Given the description of an element on the screen output the (x, y) to click on. 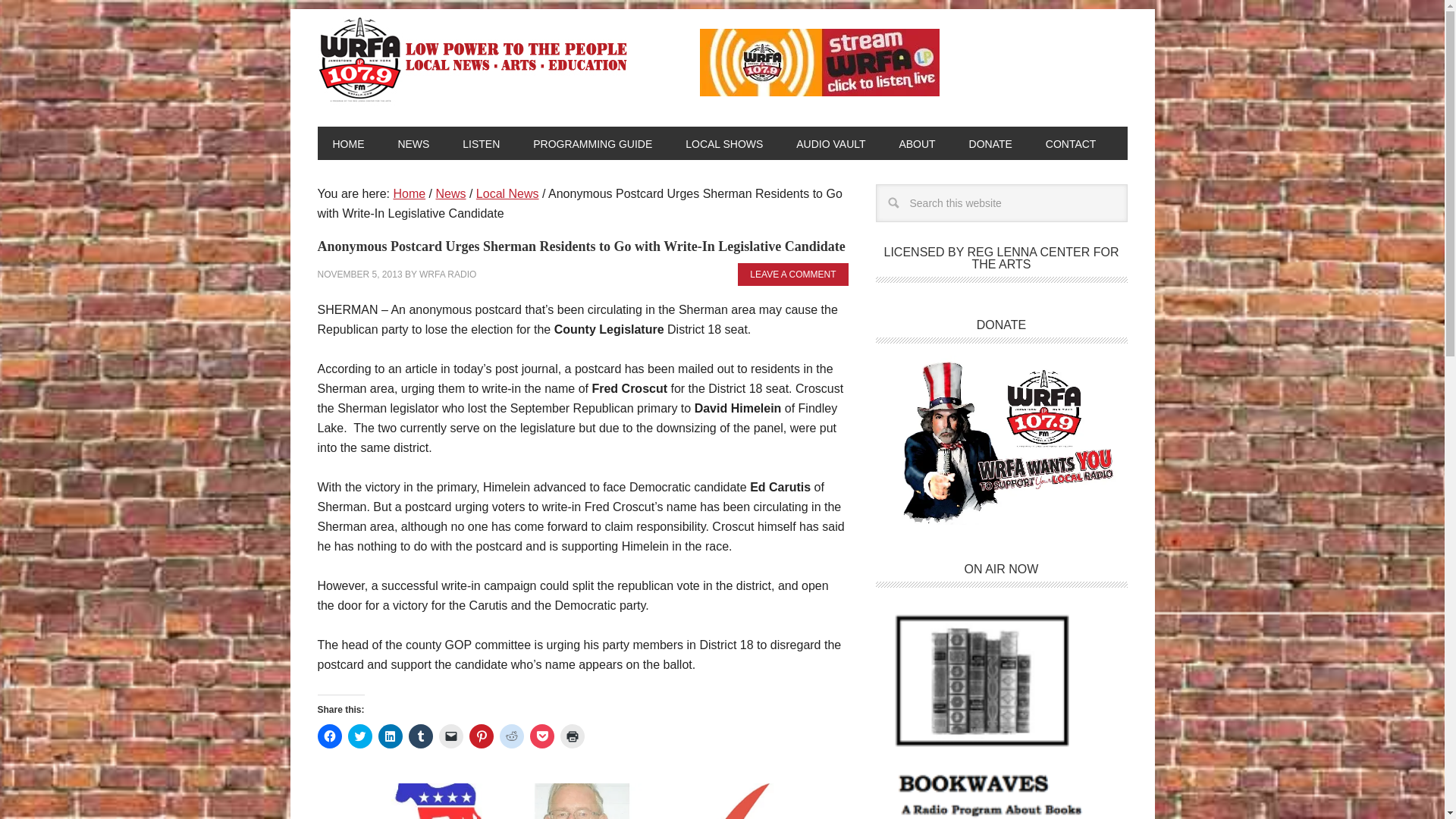
DONATE (990, 142)
PROGRAMMING GUIDE (592, 142)
LOCAL SHOWS (723, 142)
MORNING NEWS: Several Local Elections Slated for Primary Day (760, 800)
Click to share on Facebook (328, 735)
Current County Legislator, Former Chairman Passes Away (579, 800)
Click to share on LinkedIn (389, 735)
AUDIO VAULT (830, 142)
Click to share on Reddit (510, 735)
Click to share on Twitter (359, 735)
Click to share on Pocket (541, 735)
LISTEN (480, 142)
